Given the description of an element on the screen output the (x, y) to click on. 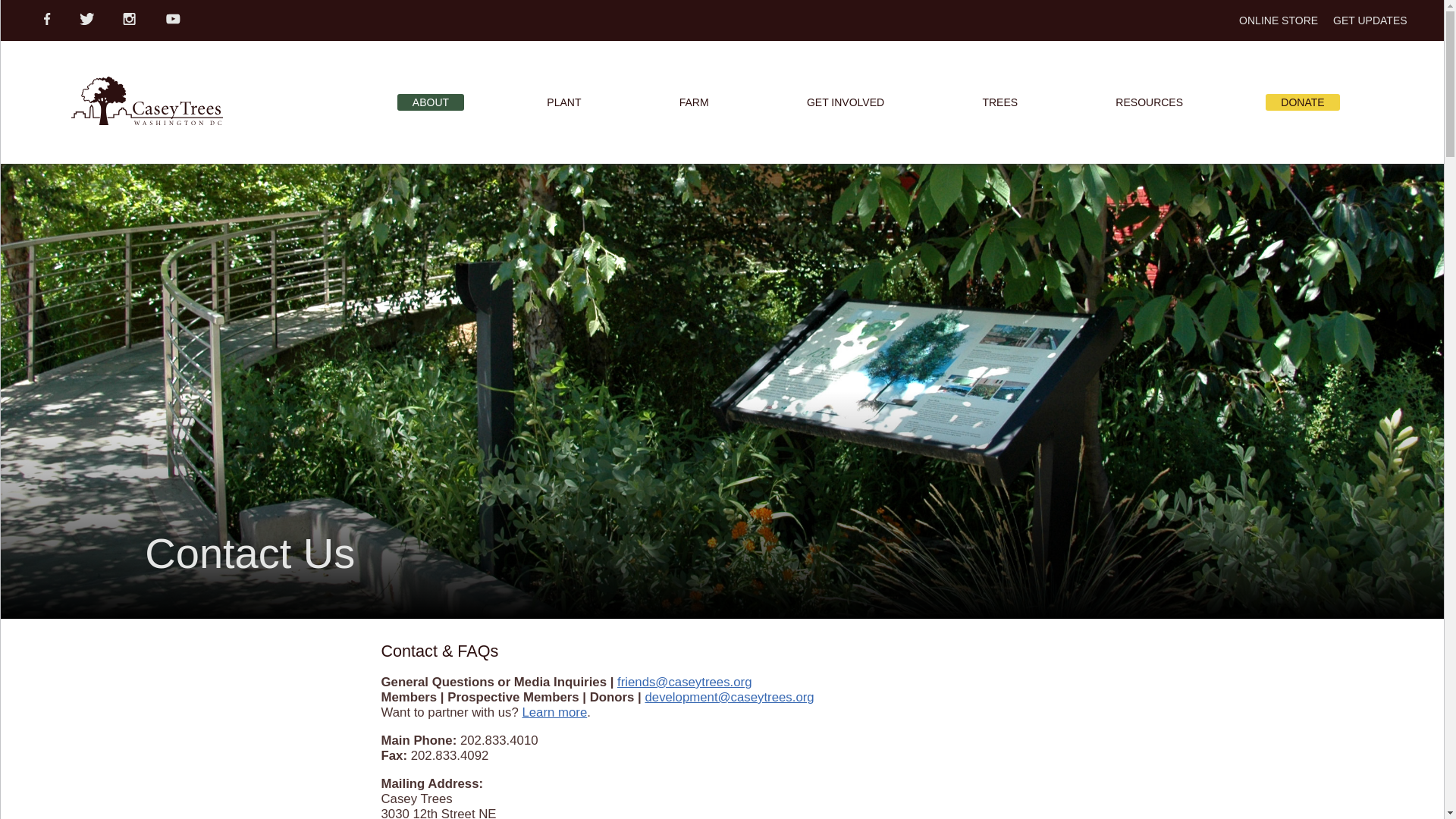
ONLINE STORE (1278, 20)
ABOUT (430, 102)
GET UPDATES (1370, 20)
TREES (999, 102)
RESOURCES (1149, 102)
GET INVOLVED (845, 102)
PLANT (563, 102)
FARM (693, 102)
